Given the description of an element on the screen output the (x, y) to click on. 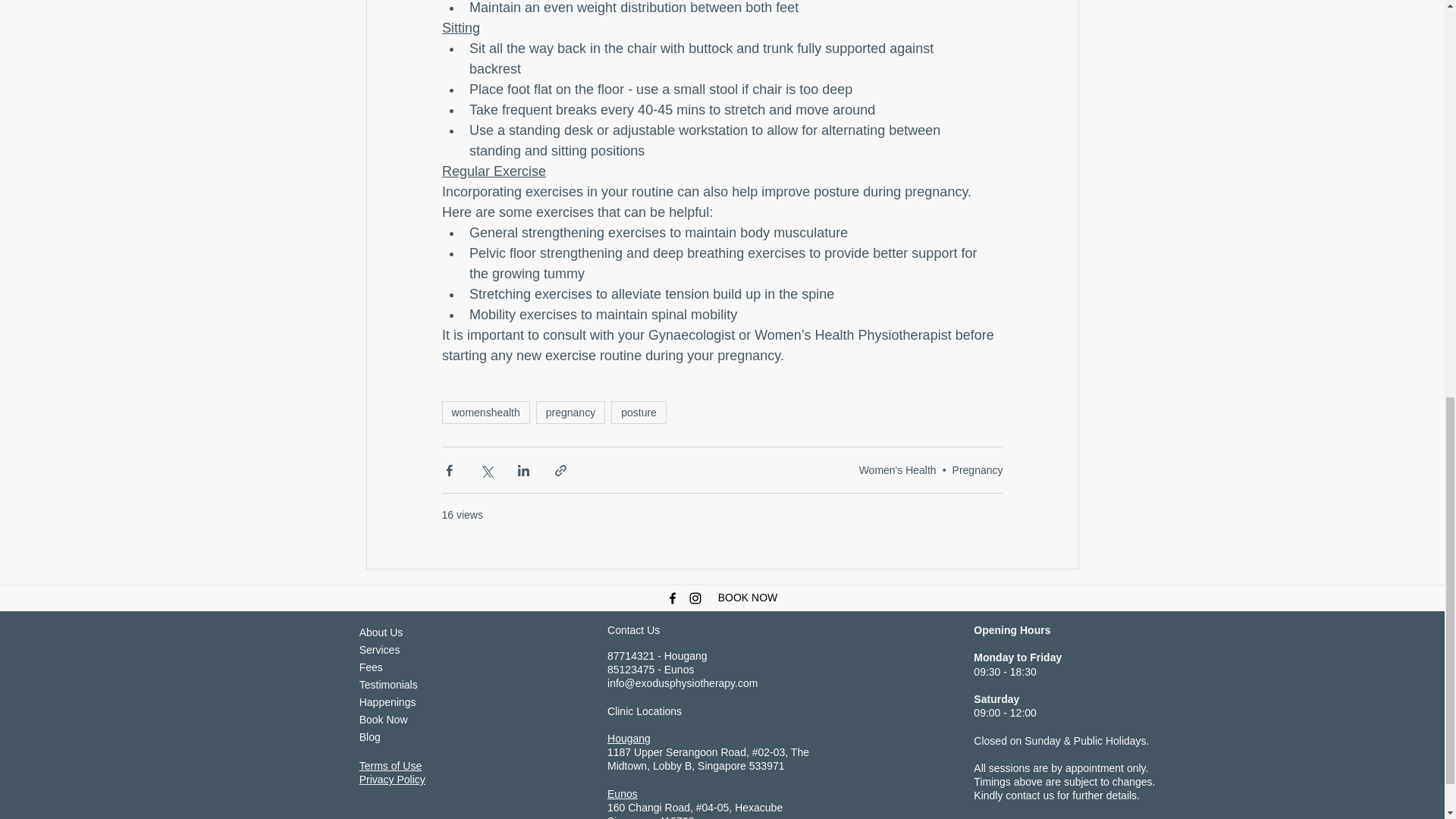
BOOK NOW (747, 597)
womenshealth (485, 412)
Women's Health (897, 469)
posture (638, 412)
Pregnancy (977, 469)
pregnancy (570, 412)
